Given the description of an element on the screen output the (x, y) to click on. 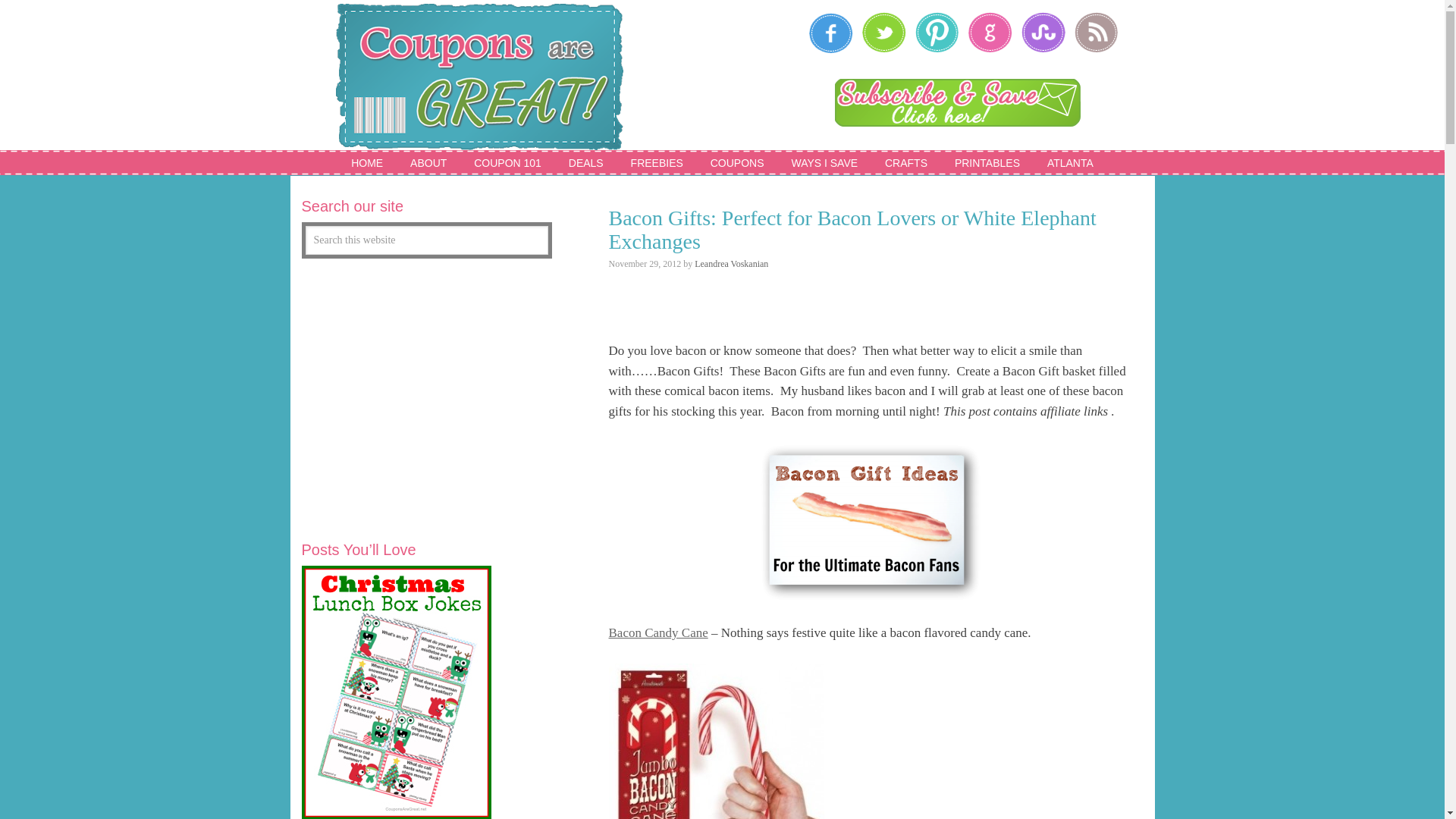
ABOUT (427, 163)
Bacon Candy Cane (657, 632)
bacon-gift-ideas (870, 522)
WAYS I SAVE (823, 163)
COUPON 101 (507, 163)
PRINTABLES (987, 163)
COUPONS (737, 163)
Advertisement (785, 311)
ATLANTA (1070, 163)
Coupons (737, 163)
